Given the description of an element on the screen output the (x, y) to click on. 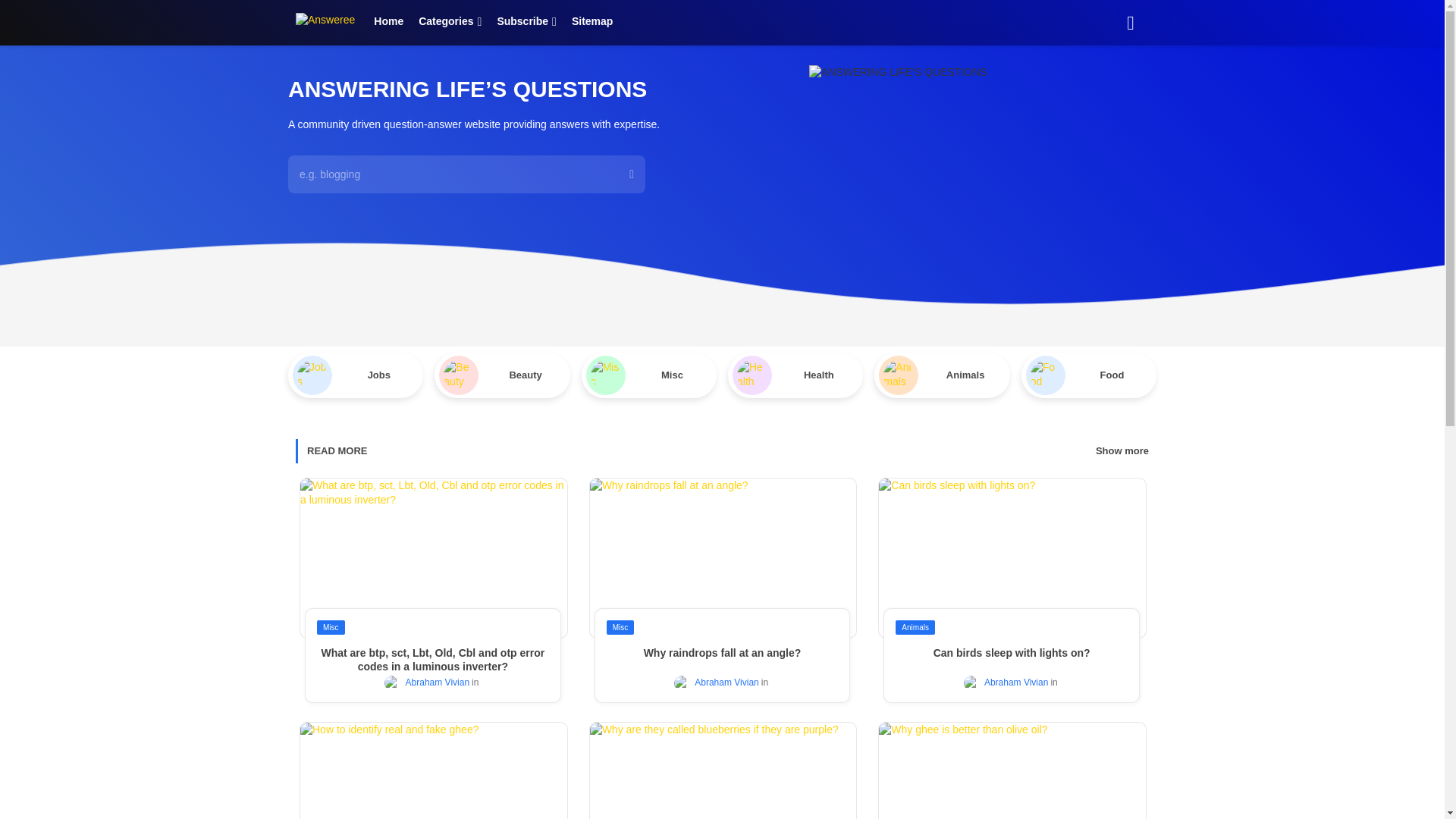
Sitemap (592, 21)
Subscribe (526, 21)
Food (1089, 373)
Animals (942, 373)
Health (795, 373)
Search (1130, 22)
Home (388, 21)
Why raindrops fall at an angle? (722, 653)
Categories (449, 21)
Misc (648, 373)
Why raindrops fall at an angle? (722, 653)
Show more (1122, 450)
Jobs (355, 373)
Beauty (501, 373)
